Given the description of an element on the screen output the (x, y) to click on. 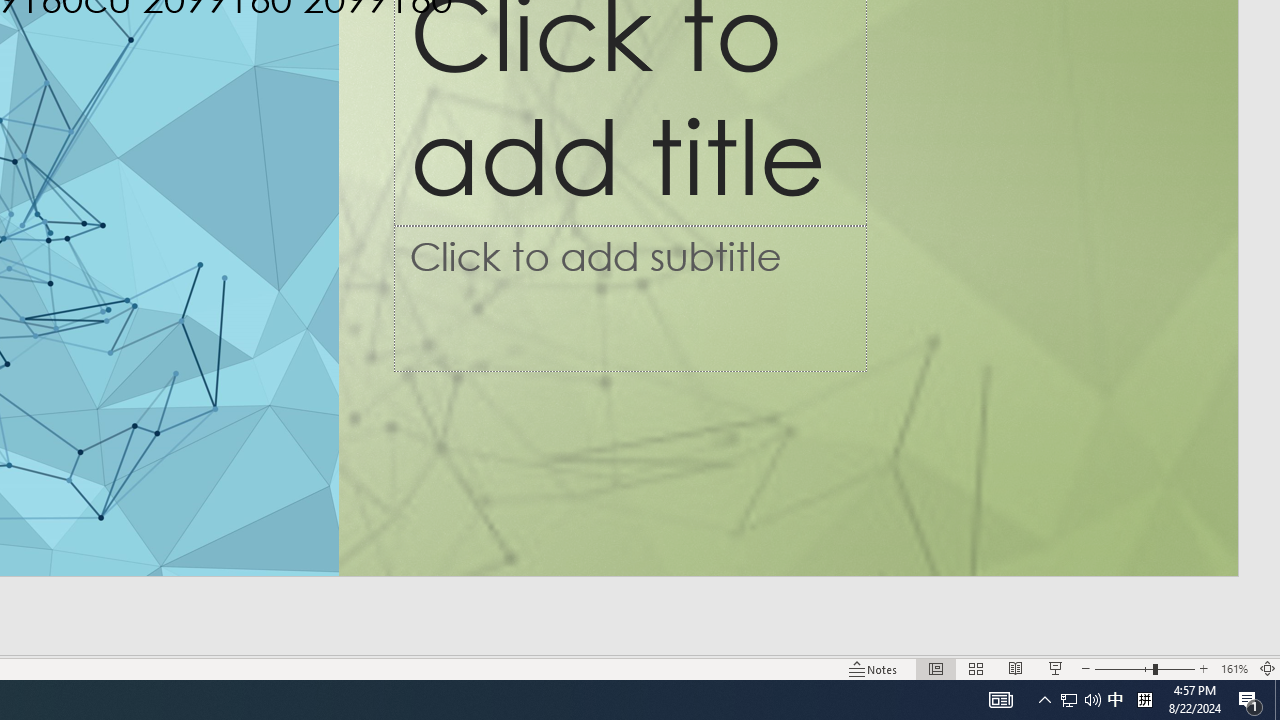
Zoom 161% (1234, 668)
